Given the description of an element on the screen output the (x, y) to click on. 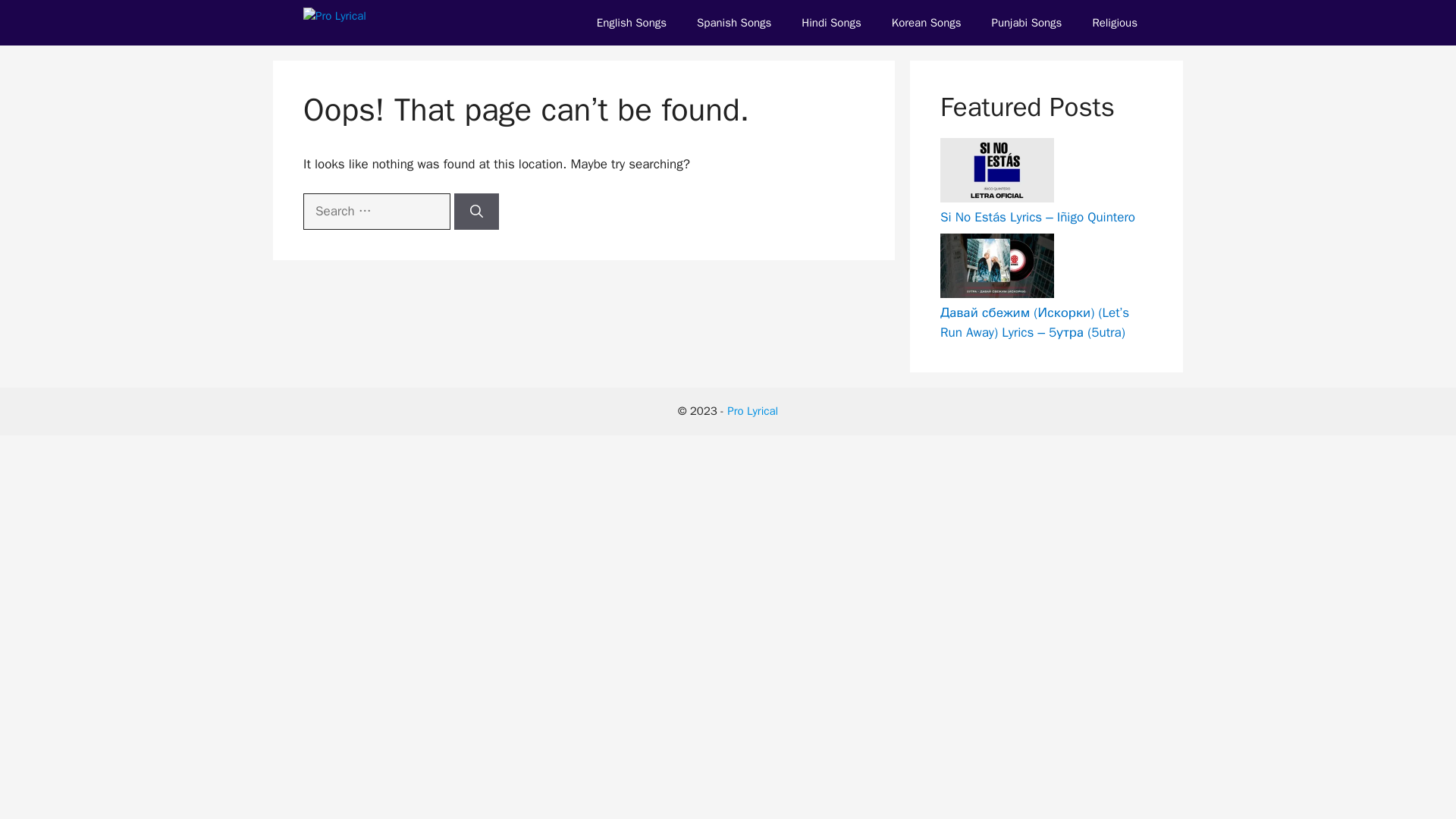
Korean Songs (926, 22)
Spanish Songs (733, 22)
Pro Lyrical (367, 22)
Search for: (375, 211)
Religious (1115, 22)
English Songs (630, 22)
Pro Lyrical (751, 410)
Hindi Songs (831, 22)
Punjabi Songs (1026, 22)
